Given the description of an element on the screen output the (x, y) to click on. 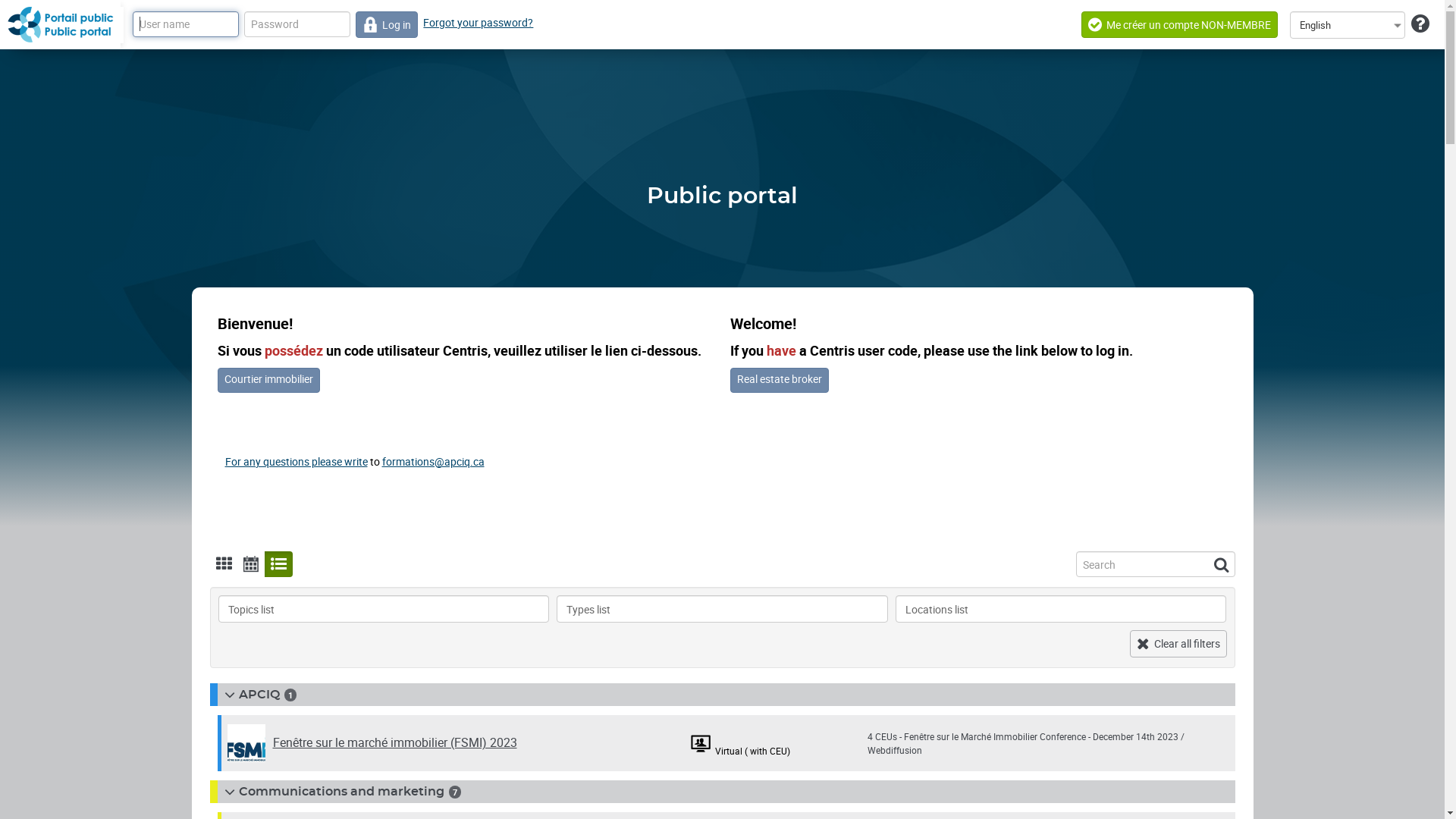
Communications and marketing Element type: text (332, 791)
Display tile Element type: hover (223, 564)
For any questions please write Element type: text (295, 461)
APCIQ Element type: text (249, 694)
Display tile Element type: hover (214, 559)
Display list Element type: hover (277, 564)
Display calendar Element type: hover (250, 564)
Forgot your password? Element type: text (478, 22)
Log in Element type: text (386, 23)
formations@apciq.ca Element type: text (433, 461)
Display list Element type: hover (268, 559)
Display calendar Element type: hover (241, 559)
Real estate broker Element type: text (778, 379)
Clear all filters Element type: text (1177, 643)
Courtier immobilier Element type: text (267, 379)
